Given the description of an element on the screen output the (x, y) to click on. 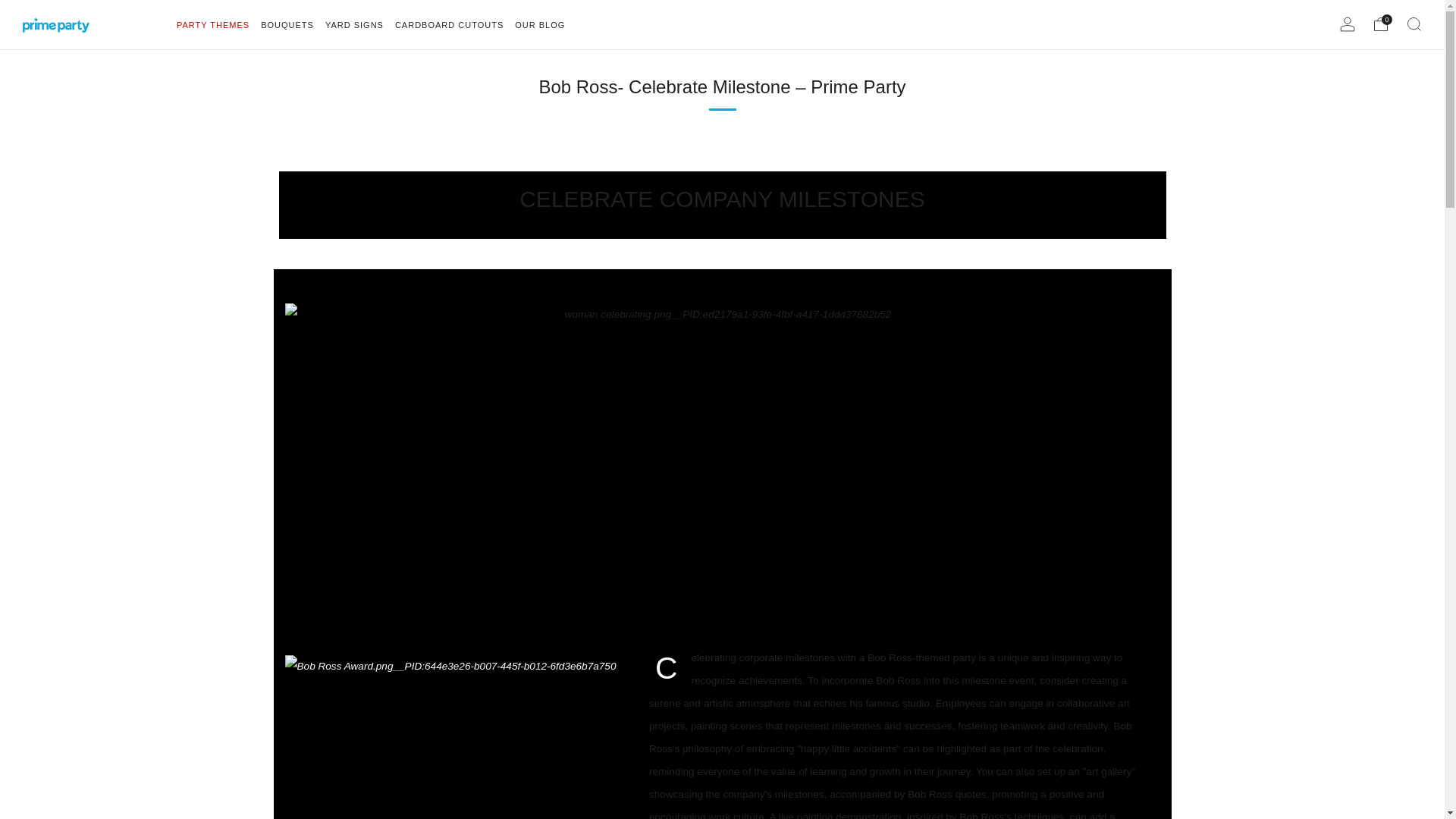
YARD SIGNS (354, 24)
BOUQUETS (287, 24)
PARTY THEMES (212, 24)
